Given the description of an element on the screen output the (x, y) to click on. 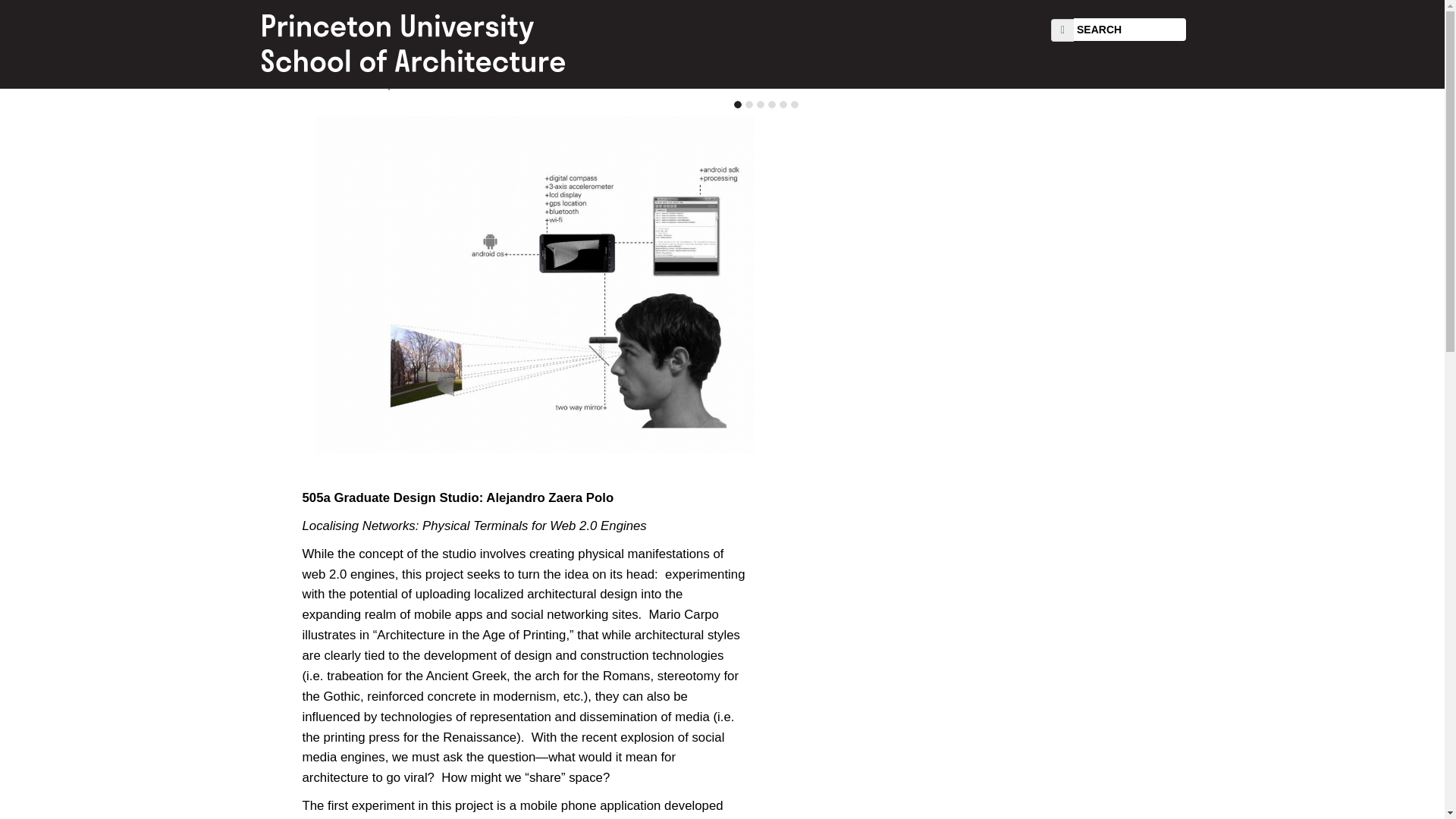
Enter the terms you wish to search for. (1130, 29)
Home (430, 43)
SEARCH (1130, 29)
